Given the description of an element on the screen output the (x, y) to click on. 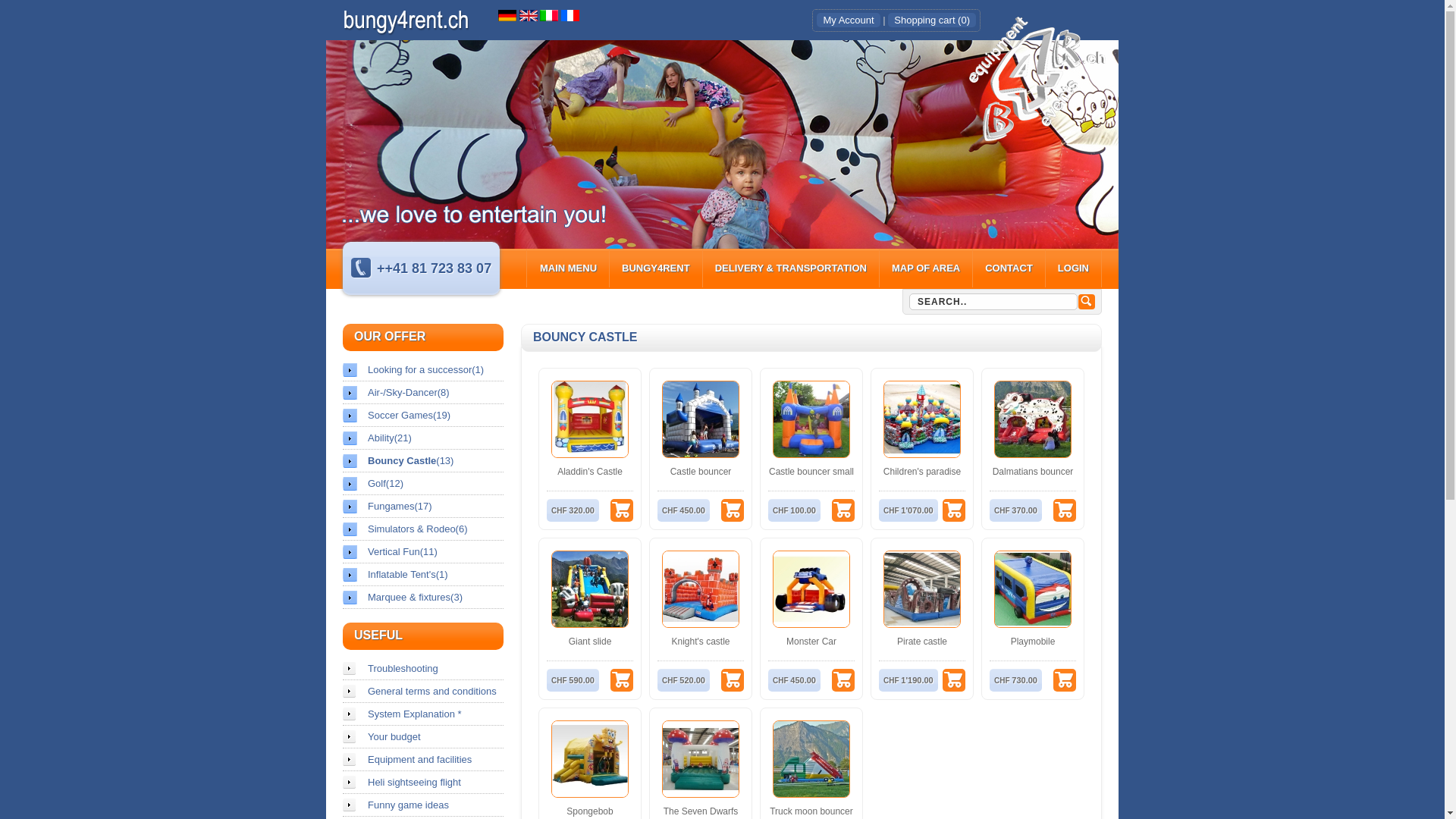
CONTACT Element type: text (1008, 267)
Children's paradise Element type: text (921, 471)
Dalmatians bouncer Element type: text (1032, 471)
 The Seven Dwarfs  Element type: hover (700, 758)
 deutsch  Element type: hover (507, 15)
 Children's paradise  Element type: hover (921, 419)
 italiano  Element type: hover (548, 15)
Marquee & fixtures(3) Element type: text (422, 597)
Air-/Sky-Dancer(8) Element type: text (422, 392)
 Giant slide  Element type: hover (589, 588)
MAIN MENU Element type: text (567, 267)
Troubleshooting Element type: text (422, 668)
Truck moon bouncer Element type: text (811, 811)
 Castle bouncer small  Element type: hover (811, 419)
Castle bouncer Element type: text (700, 471)
Spongebob Element type: text (589, 811)
Giant slide Element type: text (589, 641)
Your budget Element type: text (422, 736)
Looking for a successor(1) Element type: text (422, 369)
Simulators & Rodeo(6) Element type: text (422, 528)
Vertical Fun(11) Element type: text (422, 551)
Shopping cart (0) Element type: text (931, 19)
 Dalmatians bouncer  Element type: hover (1032, 419)
 Truck moon bouncer  Element type: hover (811, 758)
Aladdin's Castle Element type: text (589, 471)
Heli sightseeing flight Element type: text (422, 782)
 Aladdin's Castle  Element type: hover (589, 419)
Equipment and facilities Element type: text (422, 759)
The Seven Dwarfs Element type: text (700, 811)
Golf(12) Element type: text (422, 483)
Inflatable Tent's(1) Element type: text (422, 574)
 Playmobile  Element type: hover (1032, 588)
 Pirate castle  Element type: hover (921, 588)
Monster Car Element type: text (811, 641)
 english  Element type: hover (528, 15)
 Castle bouncer  Element type: hover (700, 419)
My Account Element type: text (847, 19)
Bouncy Castle(13) Element type: text (422, 460)
Playmobile Element type: text (1032, 641)
BUNGY4RENT Element type: text (655, 267)
Funny game ideas Element type: text (422, 804)
General terms and conditions Element type: text (422, 691)
MAP OF AREA Element type: text (925, 267)
 french  Element type: hover (570, 15)
Fungames(17) Element type: text (422, 506)
 Knight's castle  Element type: hover (700, 588)
System Explanation * Element type: text (422, 713)
Ability(21) Element type: text (422, 437)
Castle bouncer small Element type: text (810, 471)
LOGIN Element type: text (1073, 267)
 Monster Car  Element type: hover (811, 588)
Soccer Games(19) Element type: text (422, 415)
DELIVERY & TRANSPORTATION Element type: text (790, 267)
Pirate castle Element type: text (922, 641)
Knight's castle Element type: text (700, 641)
 Spongebob  Element type: hover (589, 758)
